Given the description of an element on the screen output the (x, y) to click on. 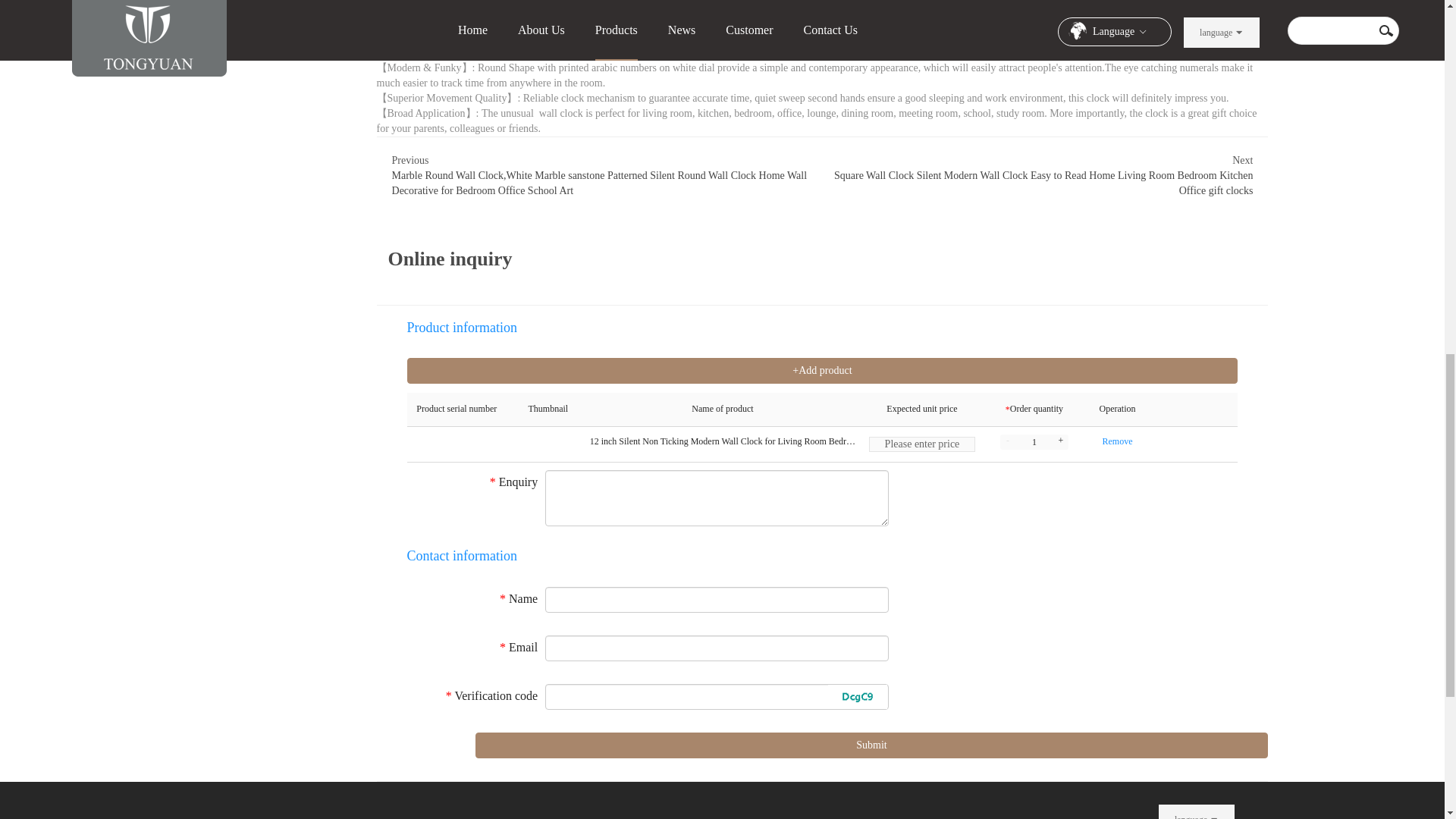
Tongyuan (215, 811)
1 (1033, 441)
